Given the description of an element on the screen output the (x, y) to click on. 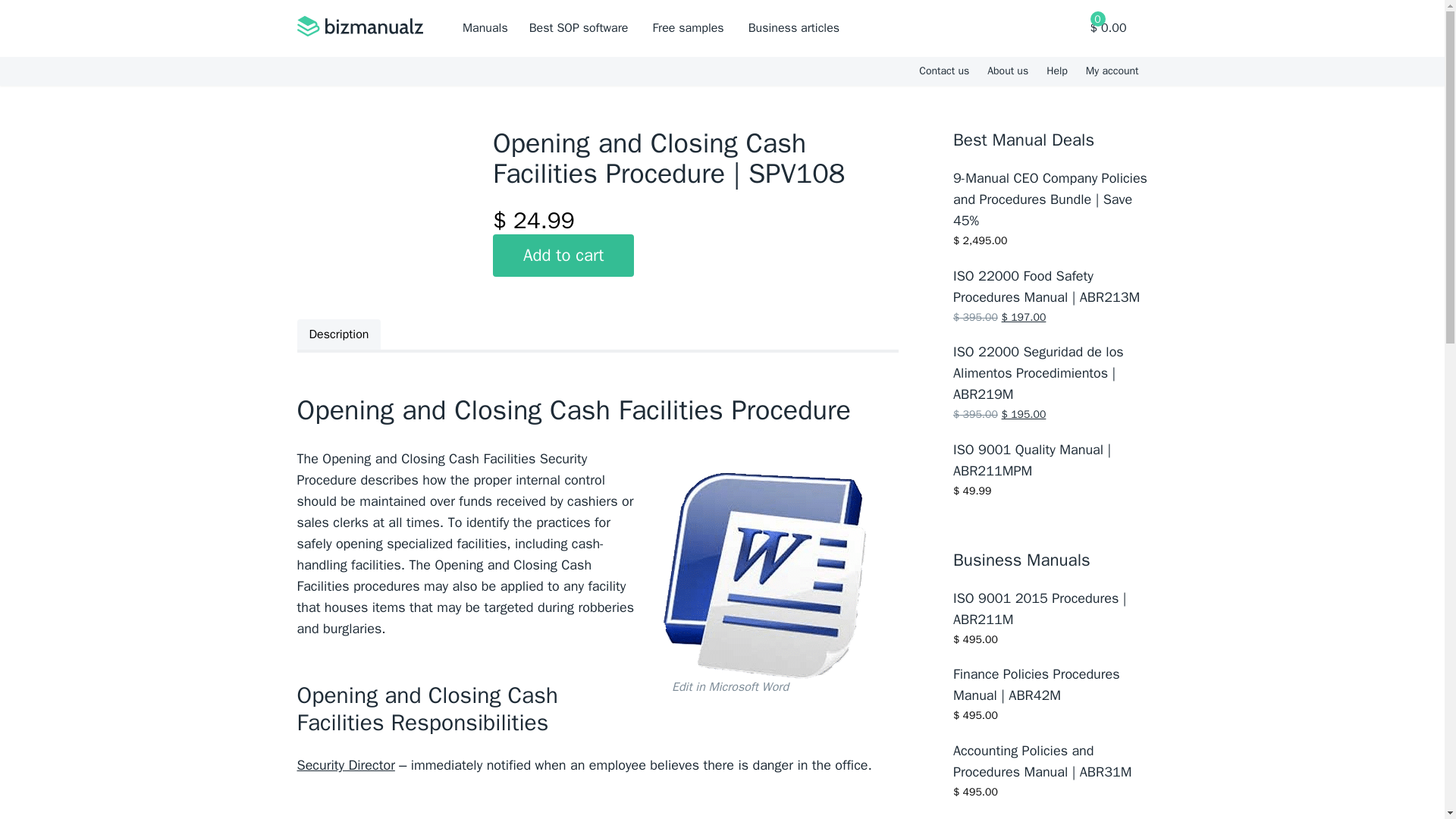
Bizmanualz (360, 28)
Free samples (687, 28)
Best SOP software (578, 28)
Business articles (794, 28)
